Given the description of an element on the screen output the (x, y) to click on. 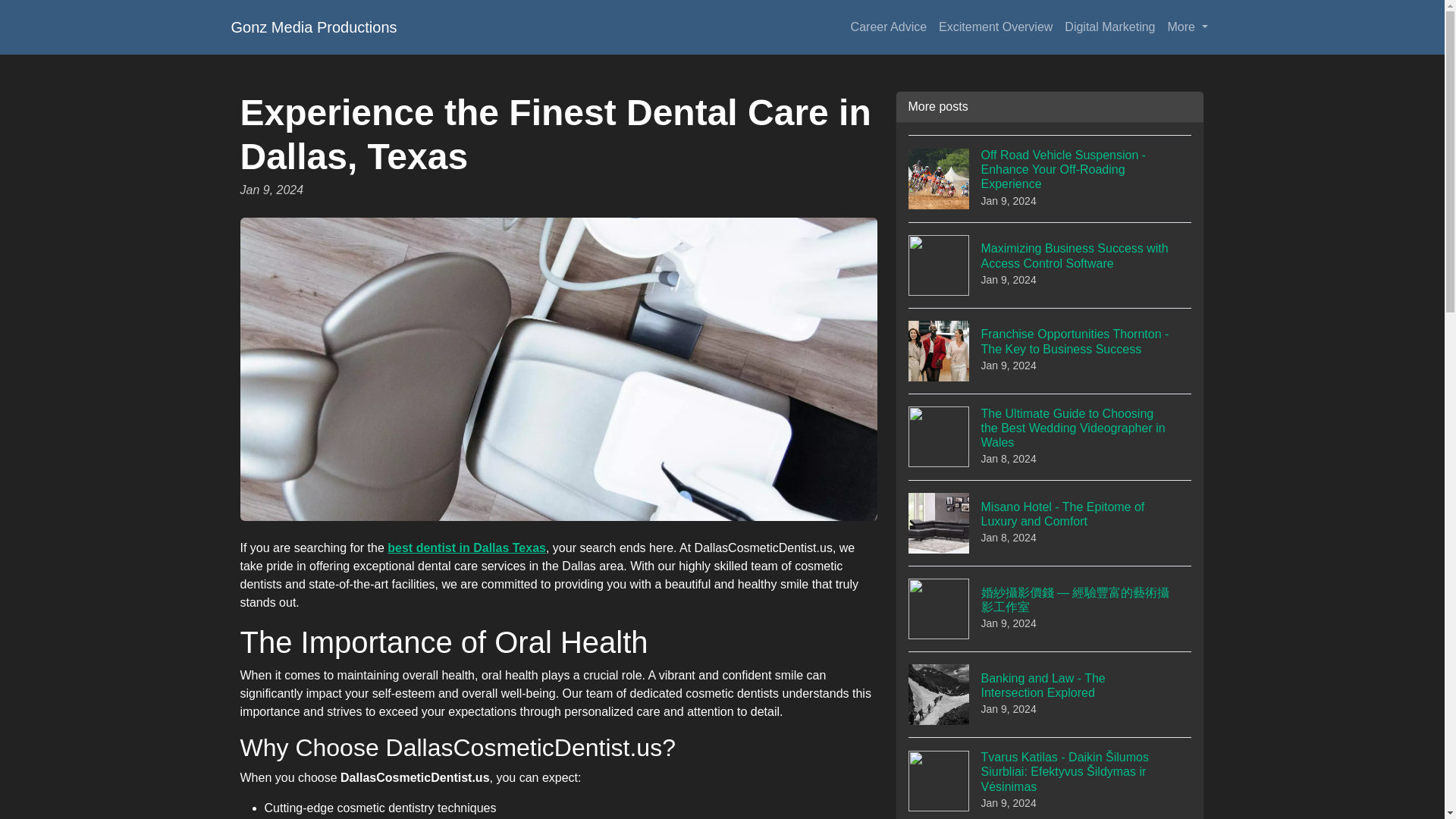
Career Advice (888, 27)
Digital Marketing (1109, 27)
More (1050, 522)
Excitement Overview (1050, 694)
Gonz Media Productions (1187, 27)
best dentist in Dallas Texas (995, 27)
